Given the description of an element on the screen output the (x, y) to click on. 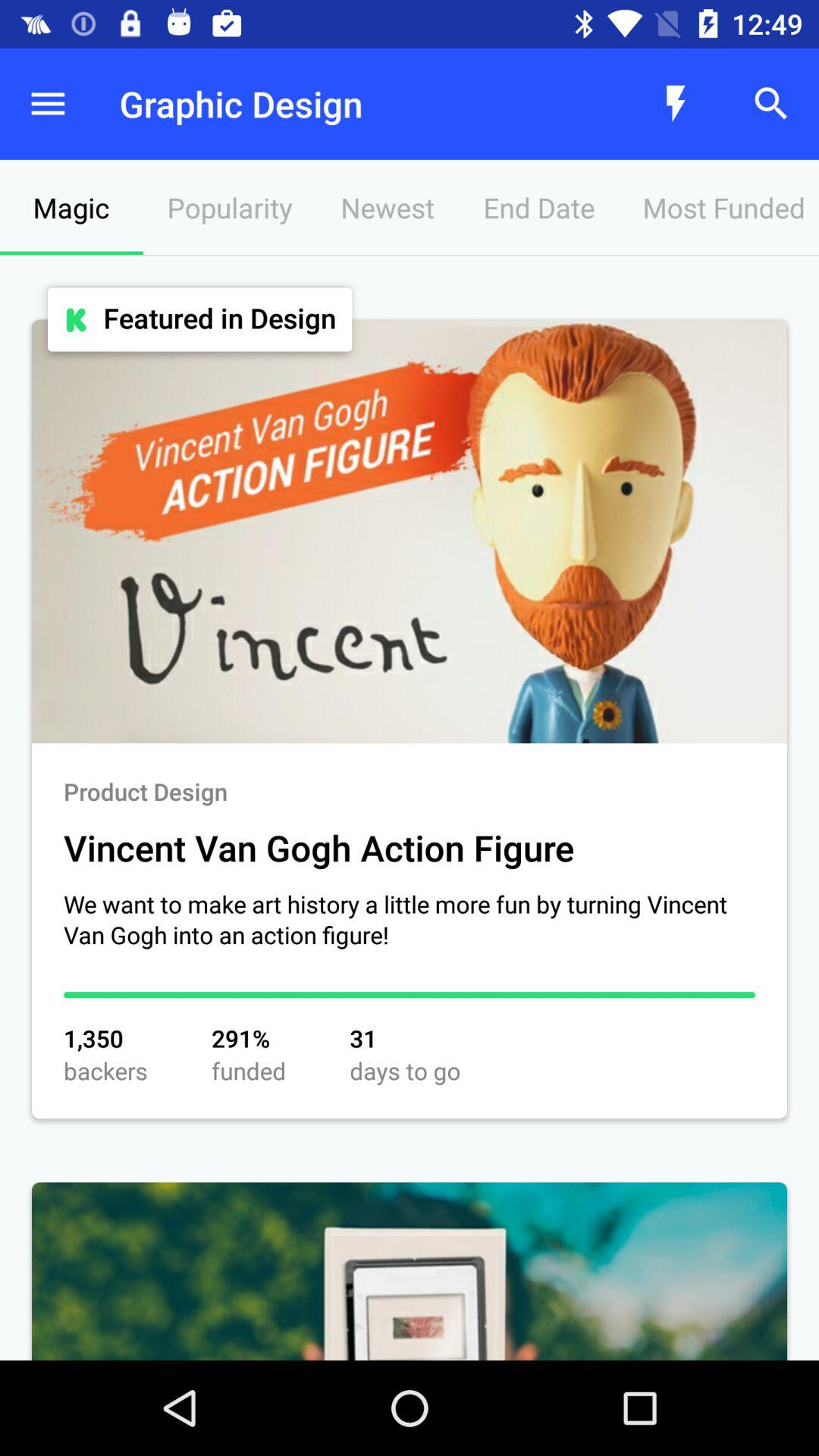
choose the graphic design (345, 103)
